Given the description of an element on the screen output the (x, y) to click on. 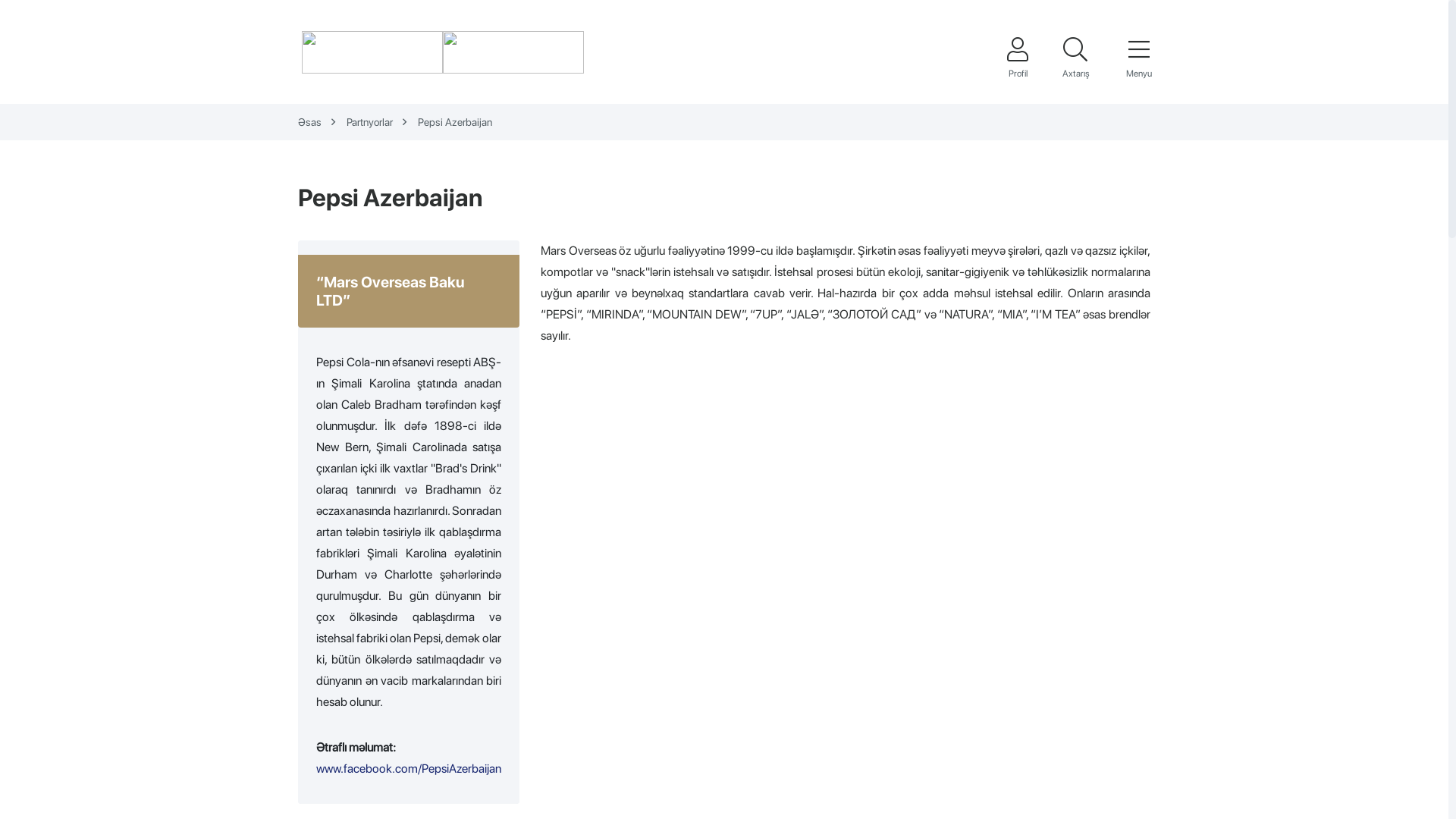
Menyu Element type: text (1138, 58)
Partnyorlar Element type: text (380, 122)
www.facebook.com/PepsiAzerbaijan Element type: text (408, 768)
